Given the description of an element on the screen output the (x, y) to click on. 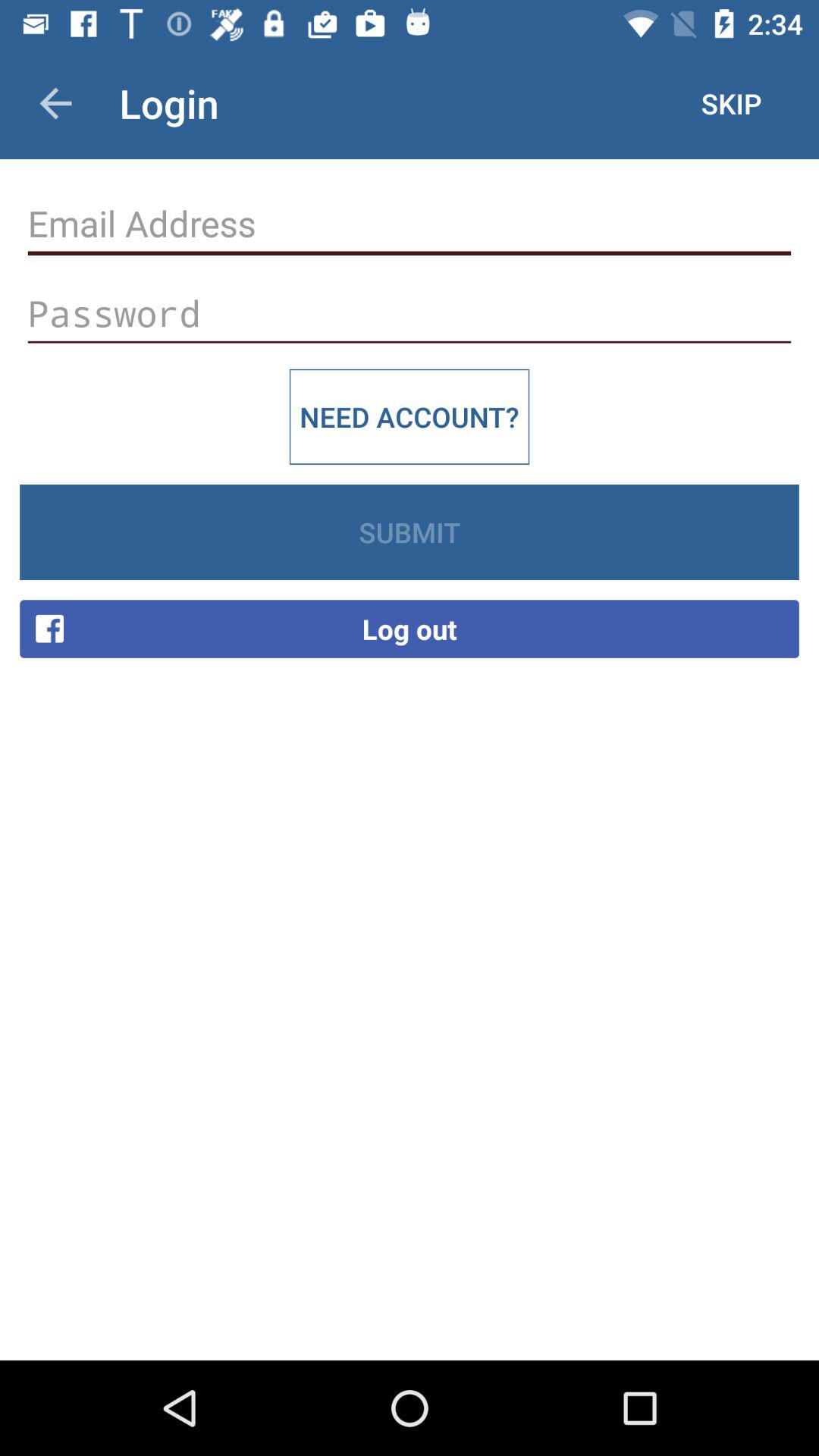
launch icon to the right of login item (731, 103)
